Given the description of an element on the screen output the (x, y) to click on. 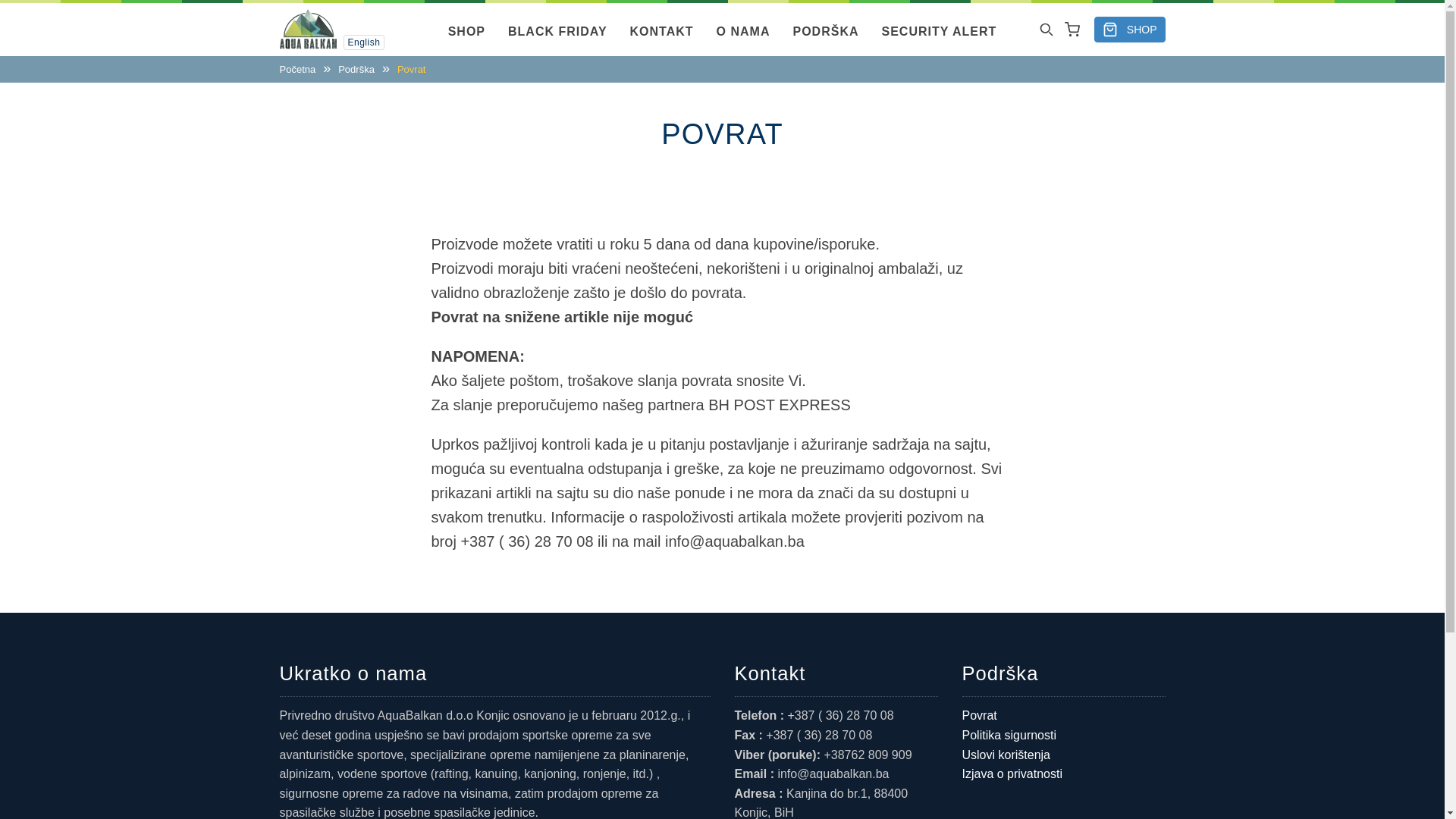
Naslovna Element type: hover (307, 28)
Povrat Element type: text (1062, 715)
Izjava o privatnosti Element type: text (1062, 774)
SHOP Element type: text (466, 31)
O NAMA Element type: text (743, 31)
SHOP Element type: text (1129, 29)
Politika sigurnosti Element type: text (1062, 735)
KONTAKT Element type: text (661, 31)
SECURITY ALERT Element type: text (939, 31)
BLACK FRIDAY Element type: text (557, 31)
English Element type: text (363, 42)
